Given the description of an element on the screen output the (x, y) to click on. 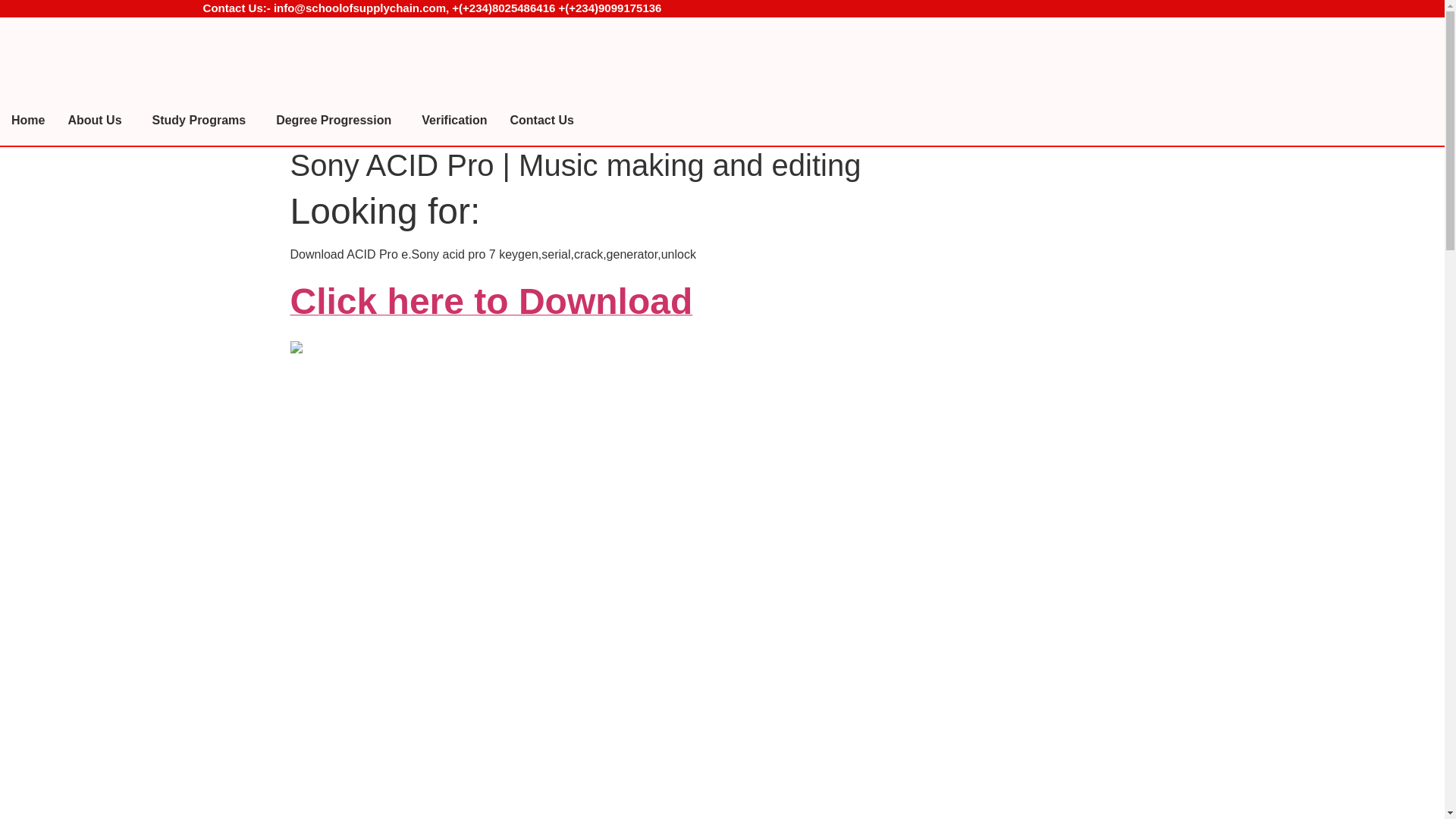
Degree Progression (337, 120)
Click here to Download (491, 309)
Contact Us (541, 120)
Verification (453, 120)
Study Programs (202, 120)
About Us (97, 120)
Home (28, 120)
